Given the description of an element on the screen output the (x, y) to click on. 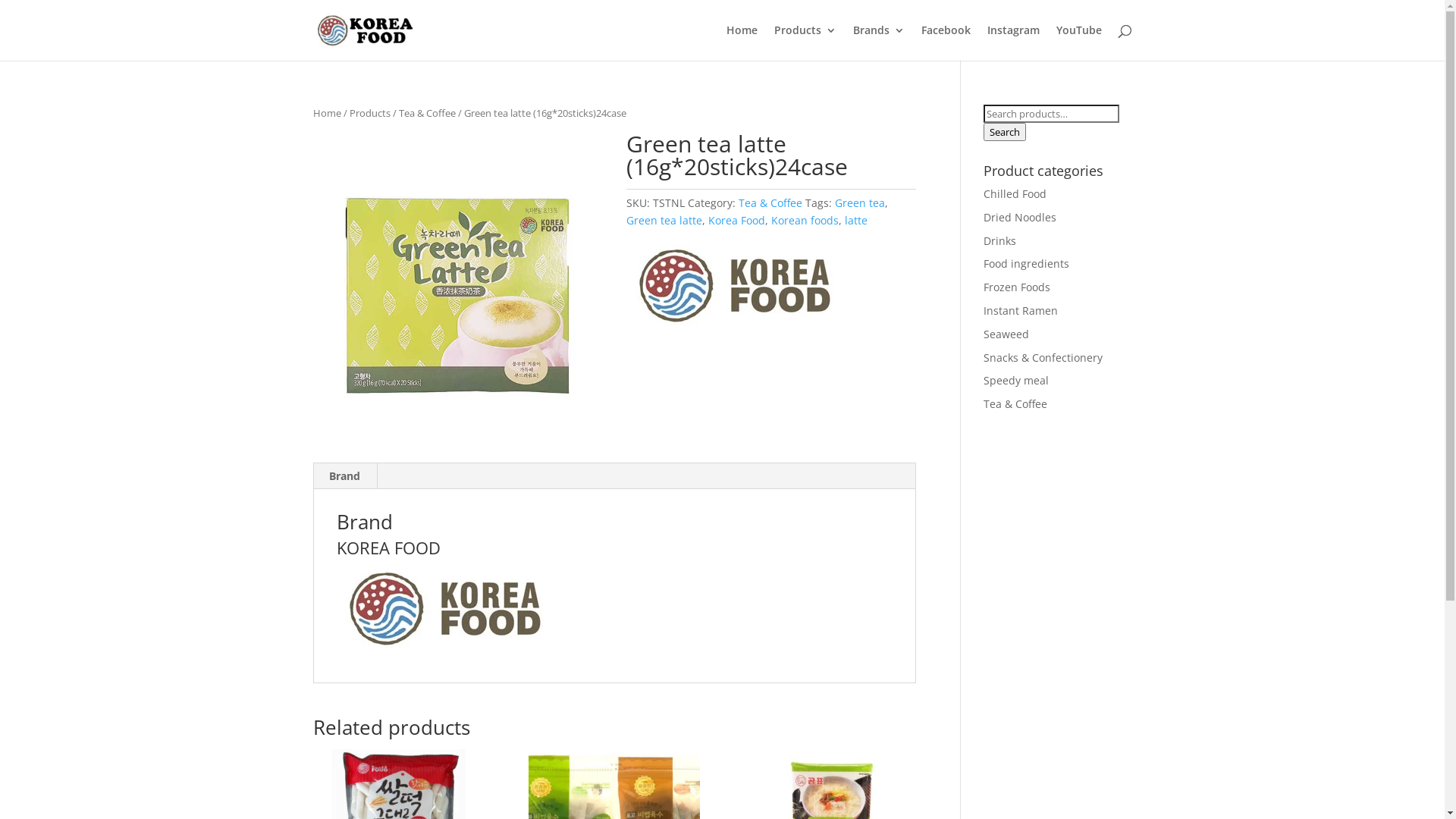
YouTube Element type: text (1078, 42)
latte Element type: text (855, 220)
Korean foods Element type: text (804, 220)
Instant Ramen Element type: text (1020, 310)
Home Element type: text (741, 42)
Tea & Coffee Element type: text (426, 112)
Tea & Coffee Element type: text (770, 202)
Home Element type: text (326, 112)
Dried Noodles Element type: text (1019, 217)
Food ingredients Element type: text (1026, 263)
Search Element type: text (1004, 131)
Frozen Foods Element type: text (1016, 286)
Brands Element type: text (877, 42)
KOREA FOOD Element type: hover (731, 288)
Drinks Element type: text (999, 240)
green tea latte Element type: hover (457, 294)
Products Element type: text (368, 112)
Instagram Element type: text (1013, 42)
Brand Element type: text (344, 476)
Snacks & Confectionery Element type: text (1042, 357)
Chilled Food Element type: text (1014, 193)
KOREA FOOD Element type: hover (442, 650)
Facebook Element type: text (944, 42)
Products Element type: text (804, 42)
Speedy meal Element type: text (1015, 380)
Seaweed Element type: text (1006, 333)
Green tea latte Element type: text (664, 220)
Tea & Coffee Element type: text (1015, 403)
Green tea Element type: text (859, 202)
Korea Food Element type: text (736, 220)
